Given the description of an element on the screen output the (x, y) to click on. 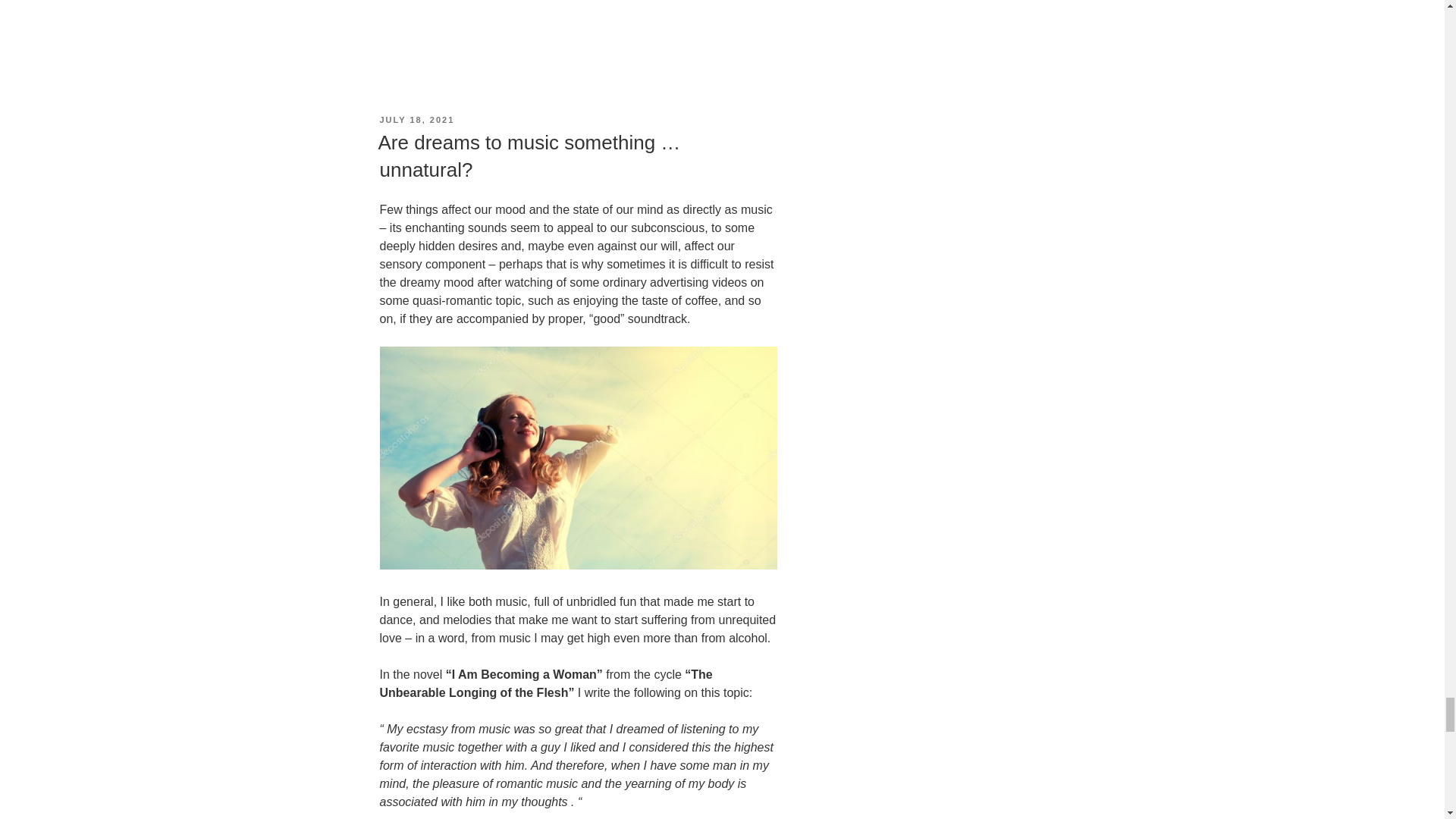
JULY 18, 2021 (416, 119)
